Given the description of an element on the screen output the (x, y) to click on. 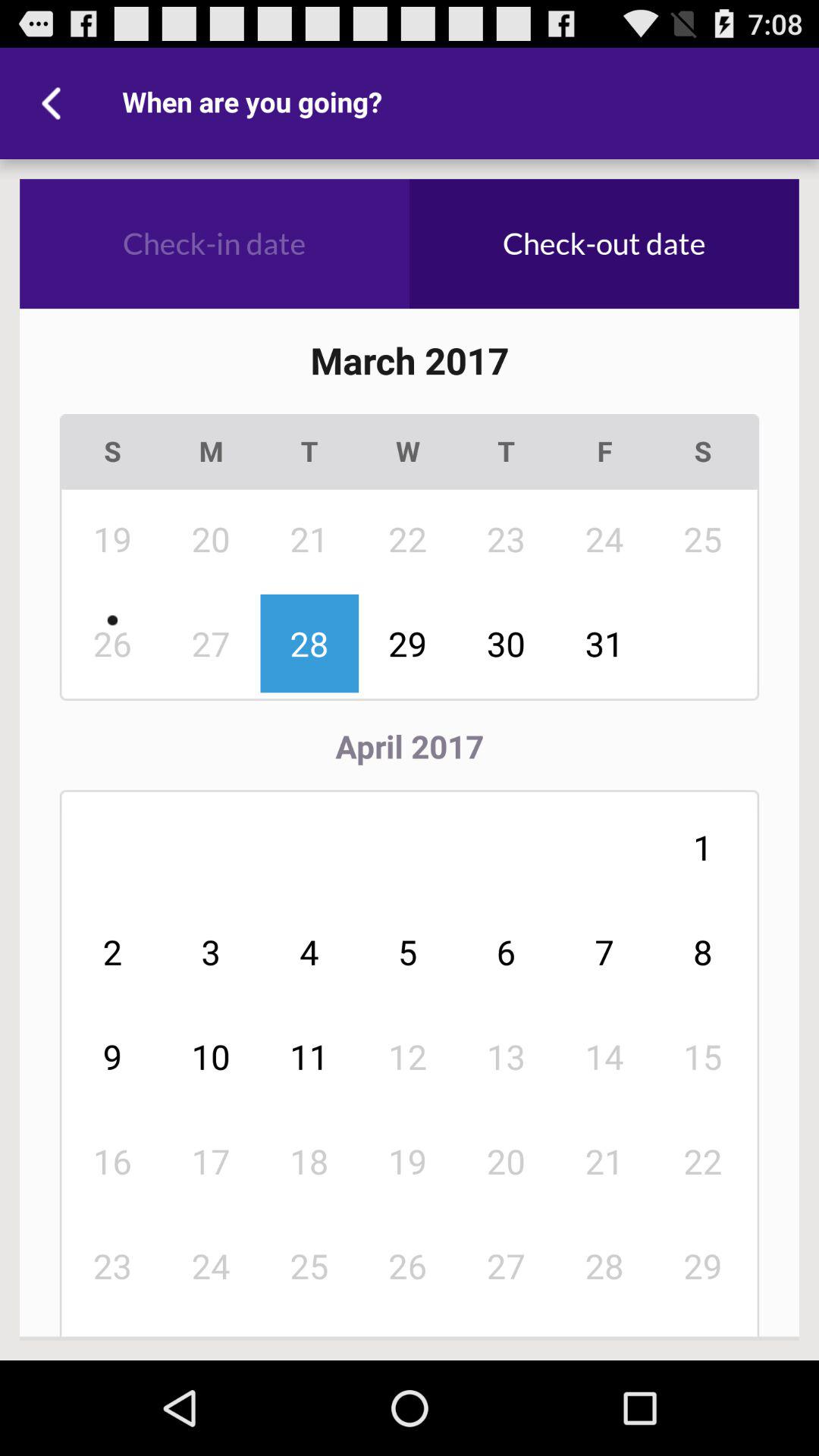
turn off the item next to 12 item (309, 1160)
